Given the description of an element on the screen output the (x, y) to click on. 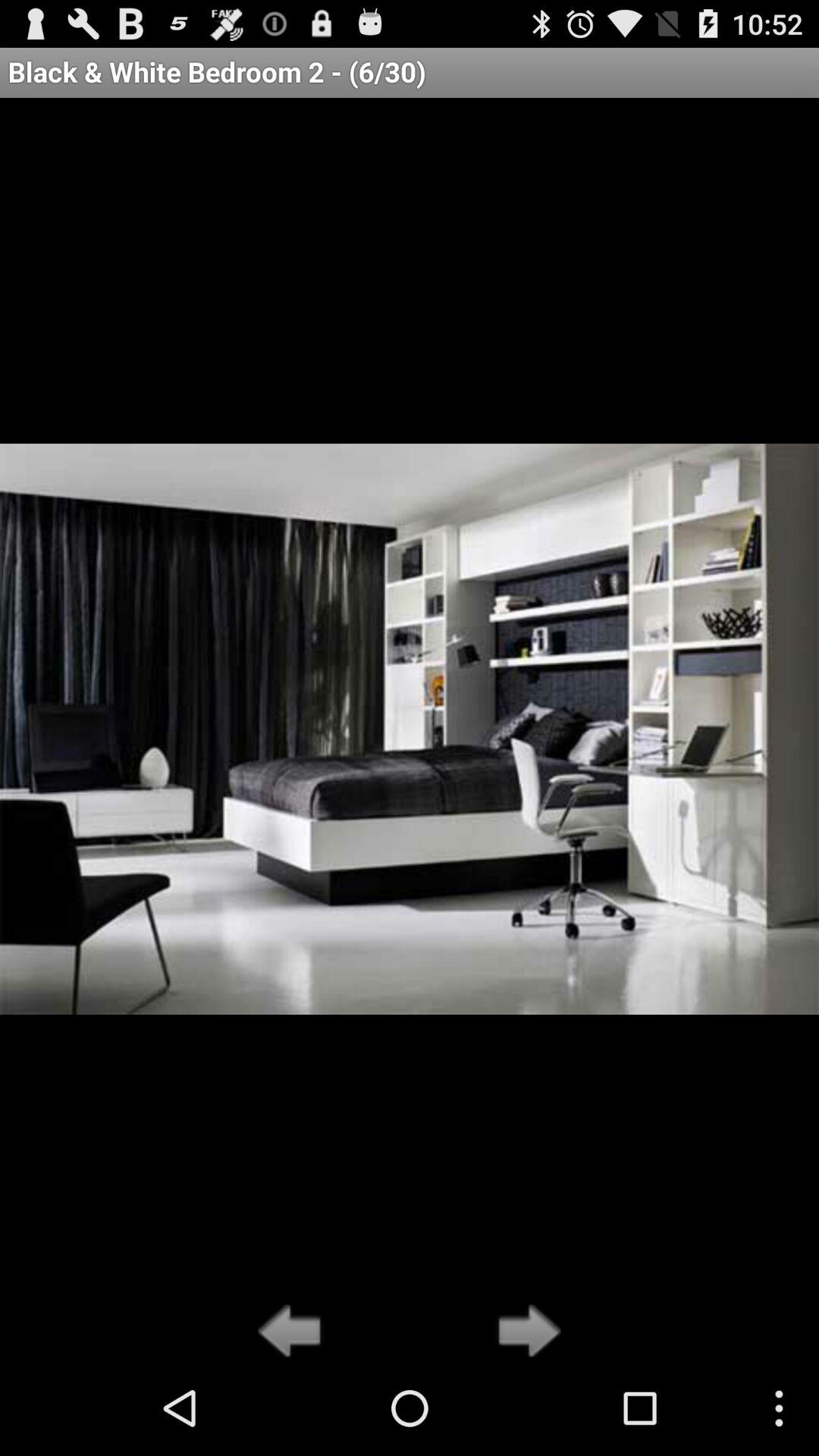
go back (293, 1332)
